Given the description of an element on the screen output the (x, y) to click on. 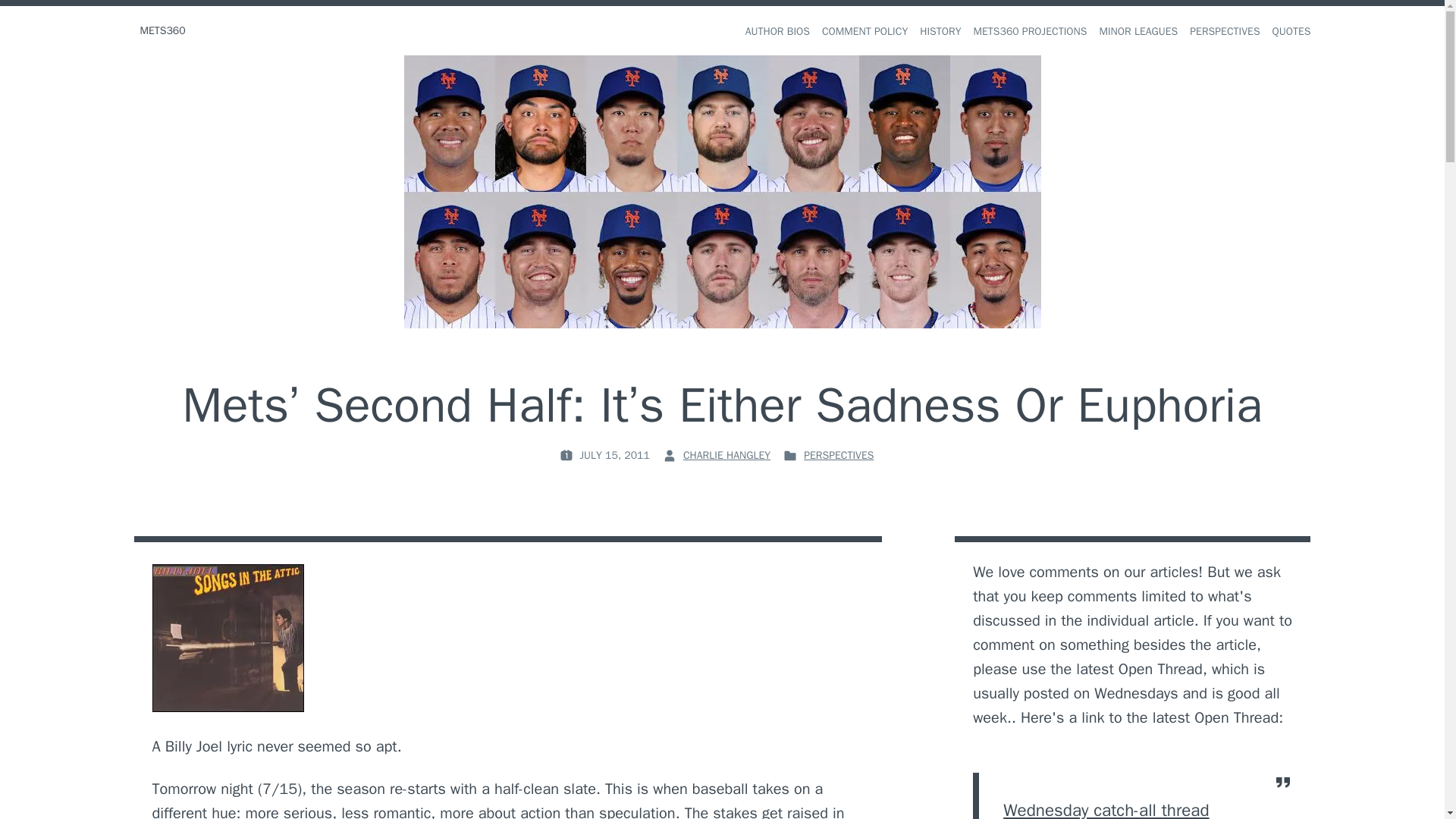
COMMENT POLICY (864, 31)
PERSPECTIVES (1224, 31)
QUOTES (1291, 31)
PERSPECTIVES (838, 455)
CHARLIE HANGLEY (726, 454)
METS360 (161, 30)
METS360 PROJECTIONS (1030, 31)
HISTORY (940, 31)
MINOR LEAGUES (1138, 31)
AUTHOR BIOS (777, 31)
